Given the description of an element on the screen output the (x, y) to click on. 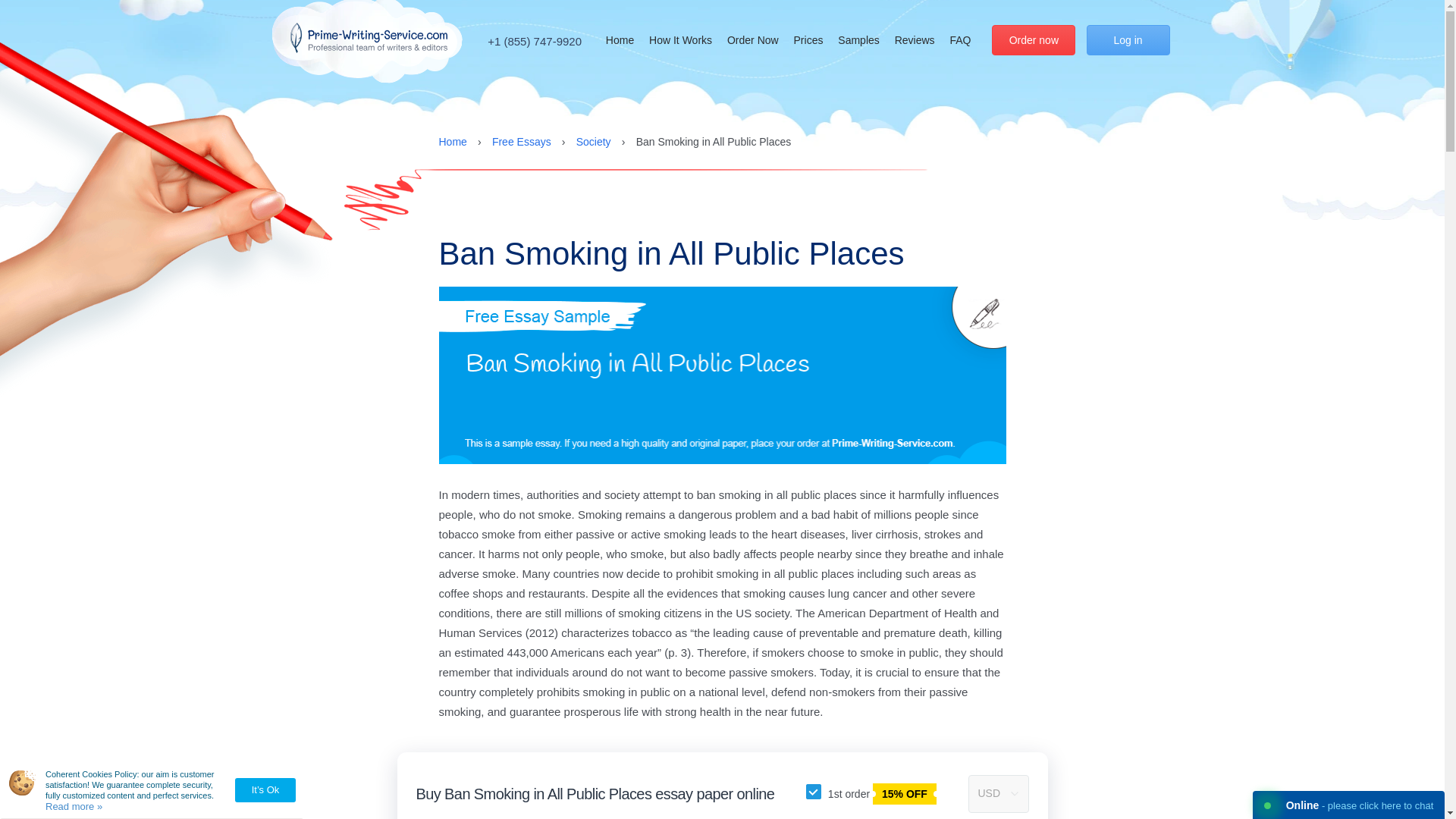
How It Works (680, 39)
Home (619, 39)
Order now (1033, 40)
Free Essays (521, 141)
Society (593, 141)
Prices (808, 39)
Home (451, 141)
Samples (858, 39)
Prime Writing Service (367, 37)
Reviews (914, 39)
